Given the description of an element on the screen output the (x, y) to click on. 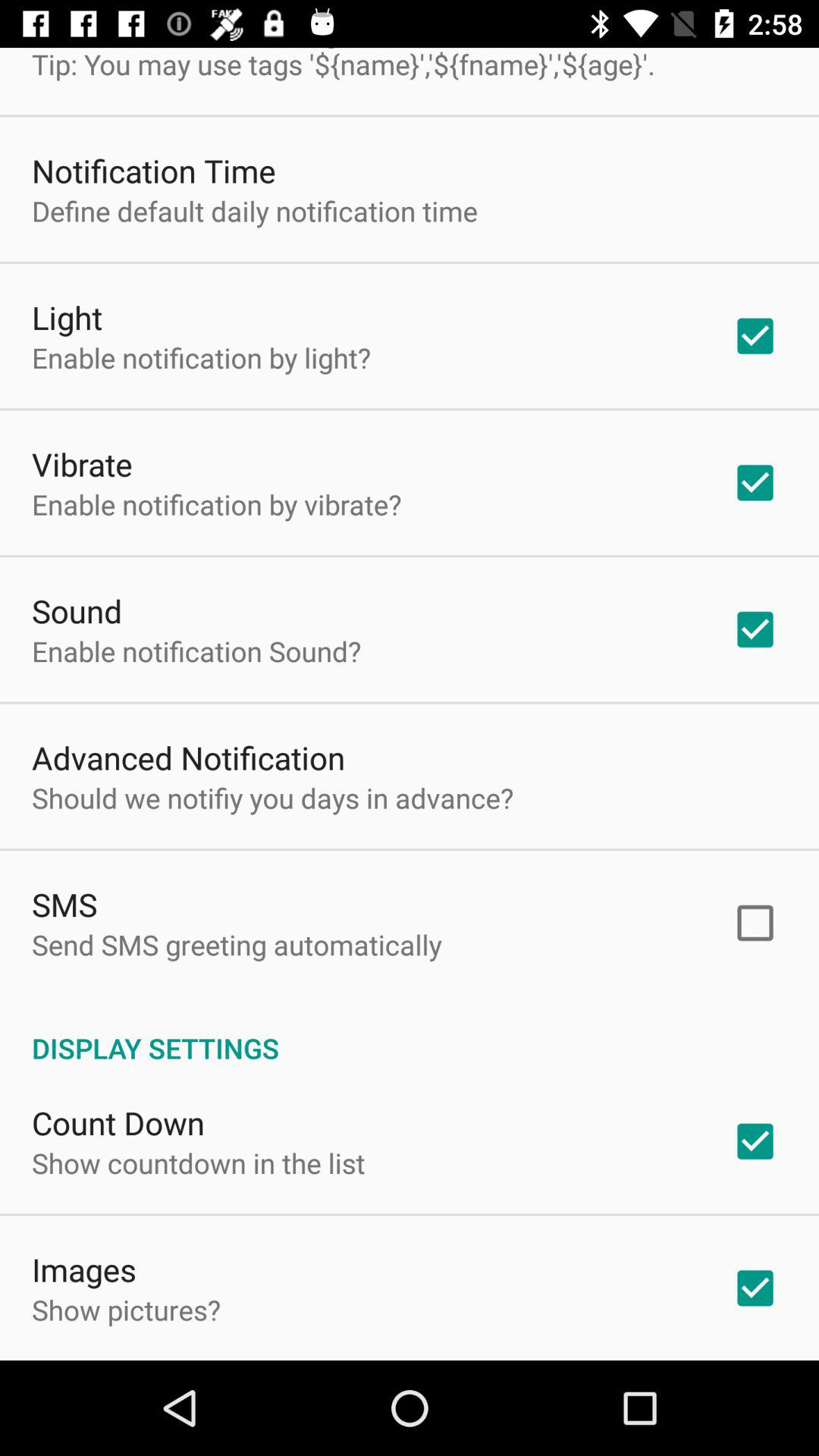
press app below advanced notification icon (272, 797)
